Given the description of an element on the screen output the (x, y) to click on. 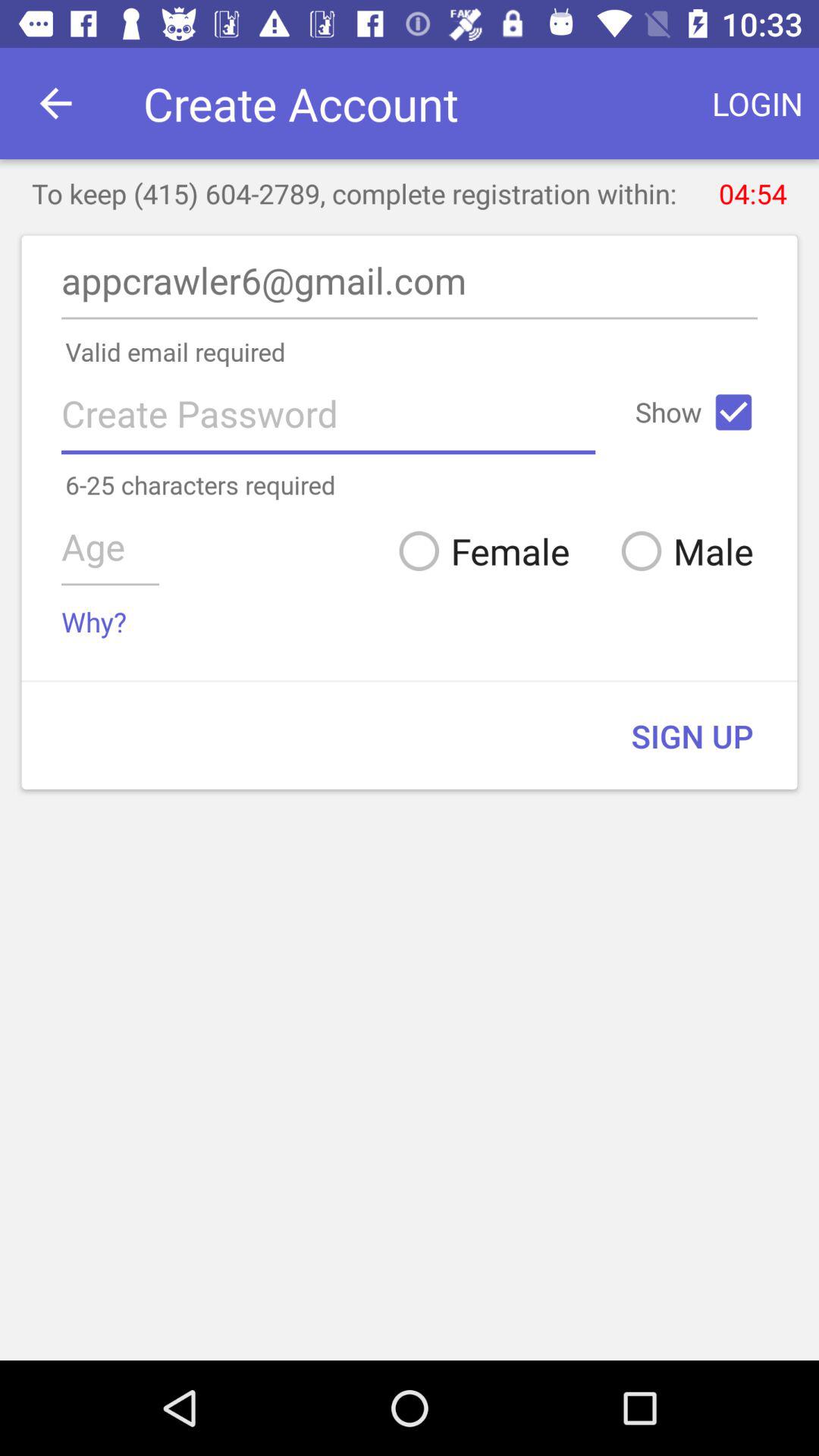
launch icon above the to keep 415 icon (55, 103)
